Given the description of an element on the screen output the (x, y) to click on. 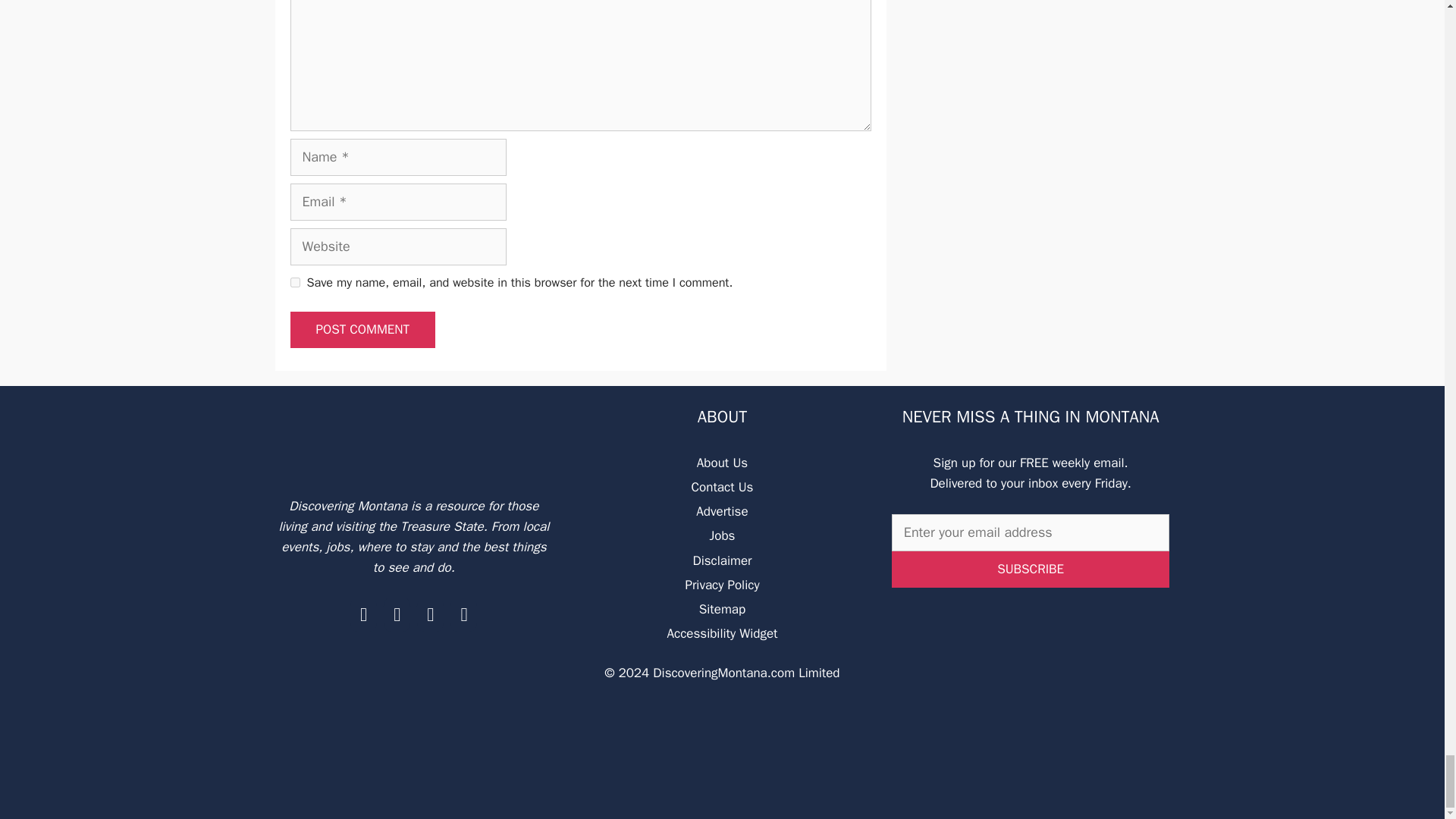
Post Comment (362, 330)
yes (294, 282)
Travel to Montana Blog (414, 439)
Subscribe (1030, 569)
DMCA.com Protection Status (721, 793)
